Given the description of an element on the screen output the (x, y) to click on. 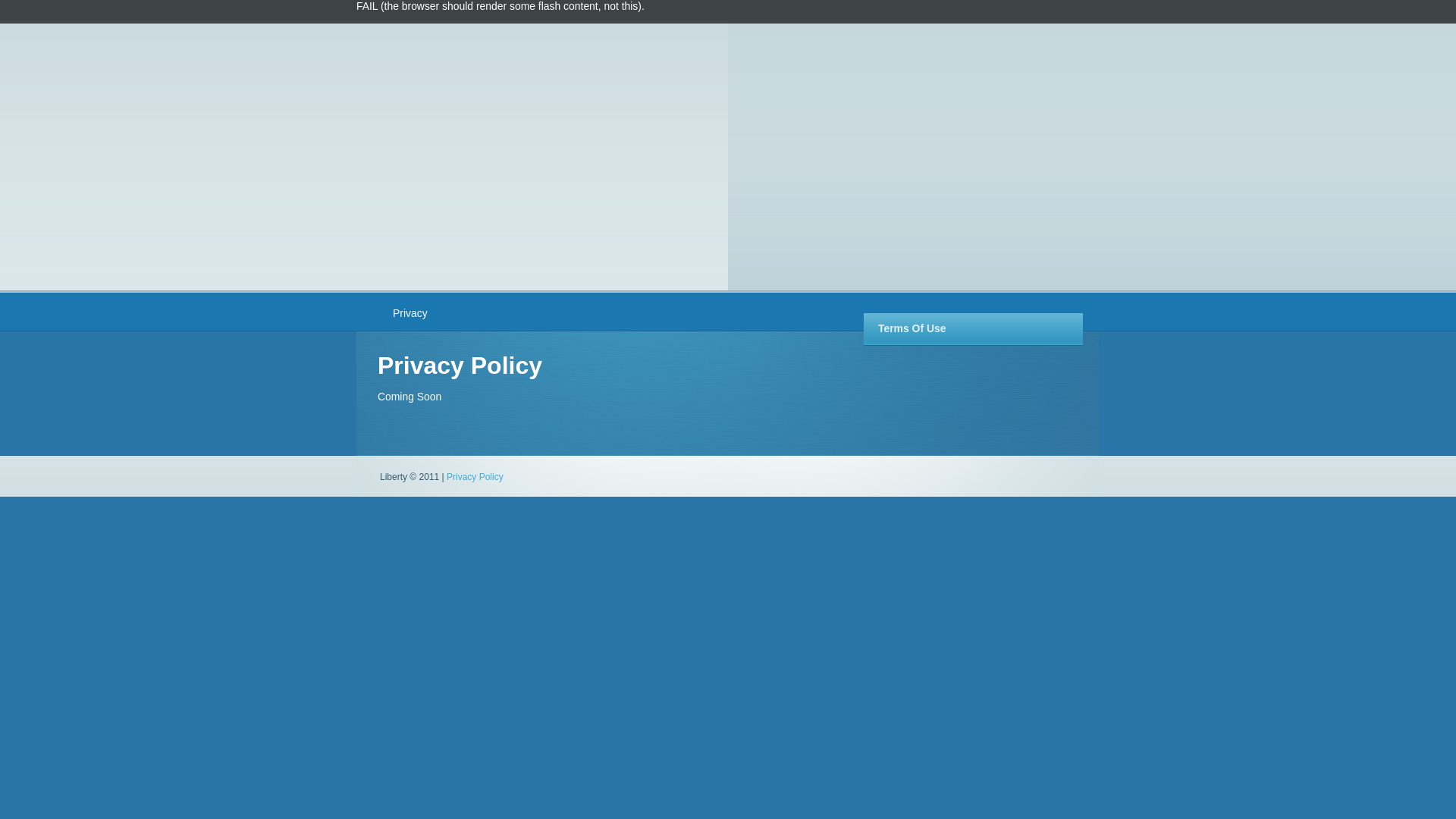
Privacy Element type: text (410, 313)
Privacy Policy Element type: text (474, 476)
